Given the description of an element on the screen output the (x, y) to click on. 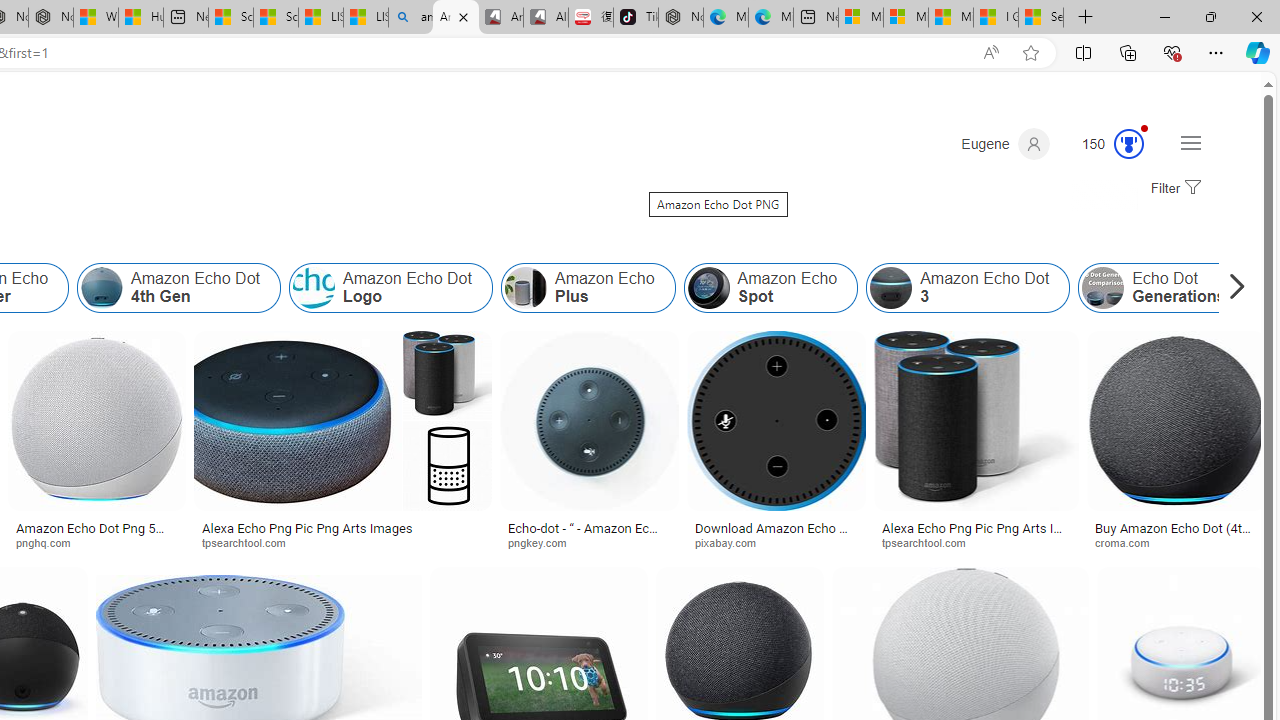
Microsoft Rewards 147 (1105, 143)
TikTok (635, 17)
Class: outer-circle-animation (1129, 143)
Class: item col (1161, 287)
Amazon Echo Dot Logo (314, 287)
pnghq.com (96, 542)
Filter (1173, 189)
Alexa Echo Png Pic Png Arts Images (342, 528)
croma.com (1176, 542)
